Given the description of an element on the screen output the (x, y) to click on. 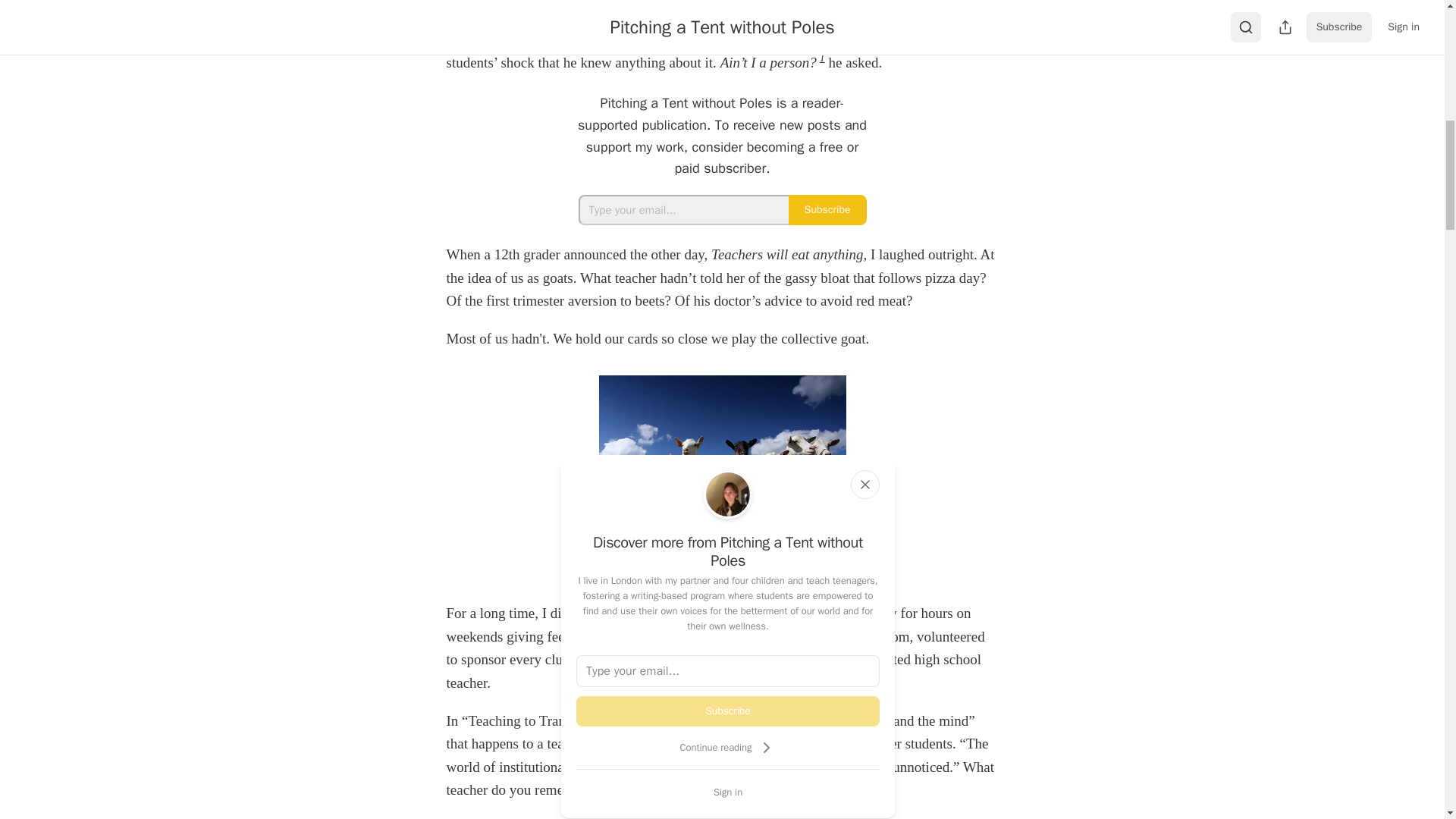
Sign in (727, 791)
Subscribe (827, 209)
1 (822, 57)
Subscribe (727, 711)
